Given the description of an element on the screen output the (x, y) to click on. 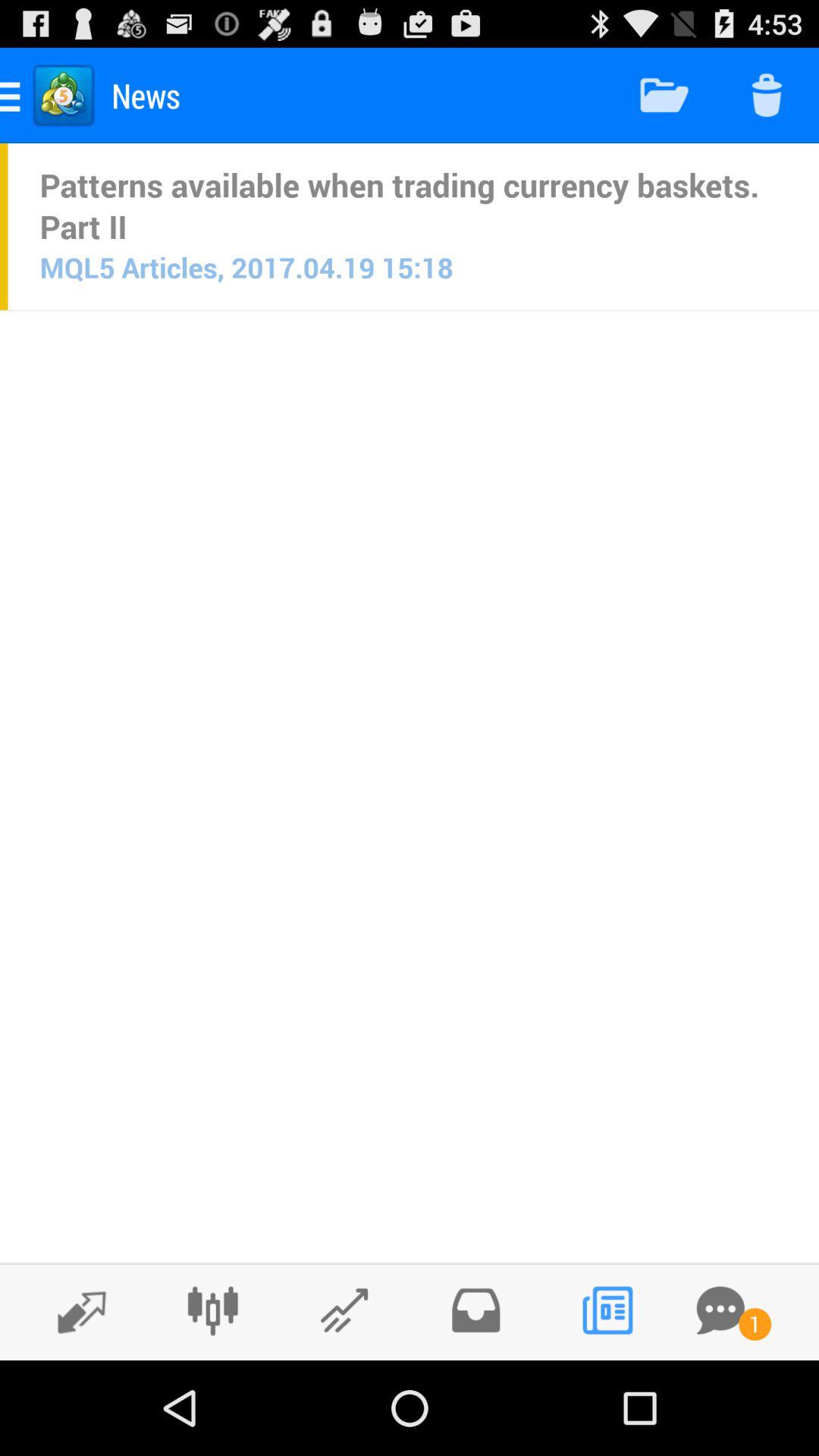
line chart option (344, 1310)
